Given the description of an element on the screen output the (x, y) to click on. 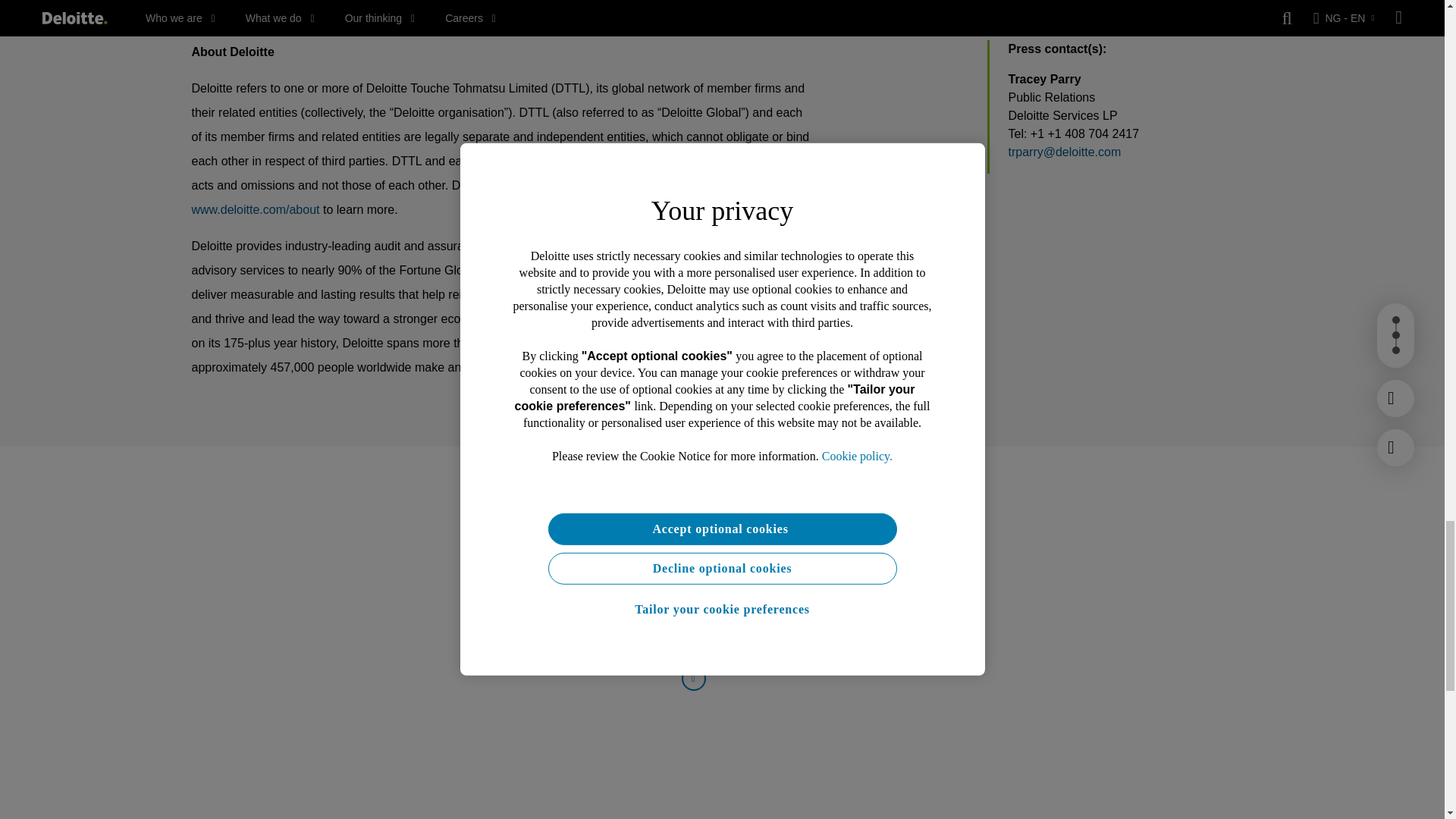
Click here to connect via linkedin (692, 677)
